Given the description of an element on the screen output the (x, y) to click on. 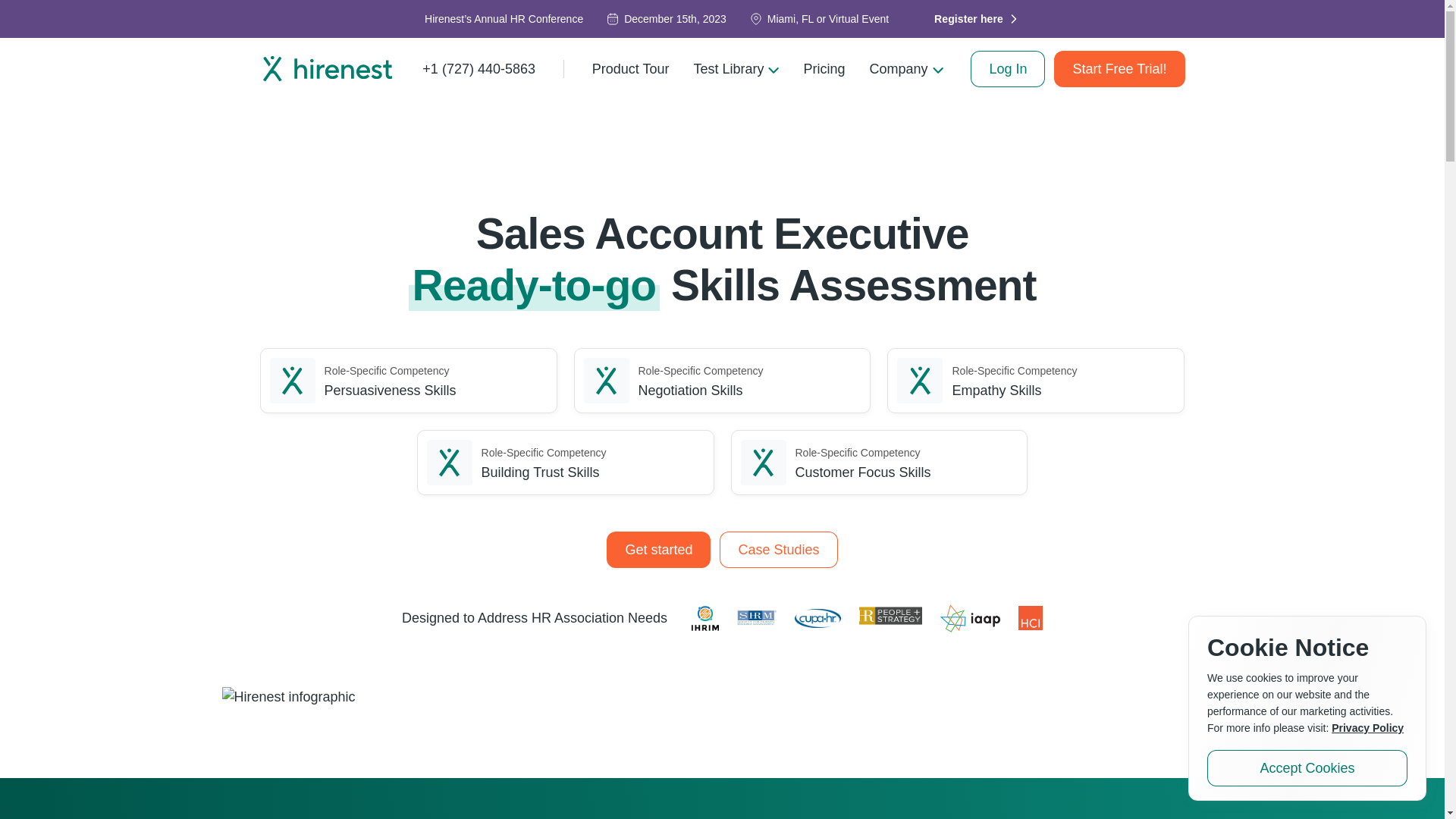
Log In (1008, 68)
Case Studies (778, 549)
Get started (658, 549)
Product Tour (630, 68)
Start Free Trial! (1119, 68)
Pricing (823, 68)
